Given the description of an element on the screen output the (x, y) to click on. 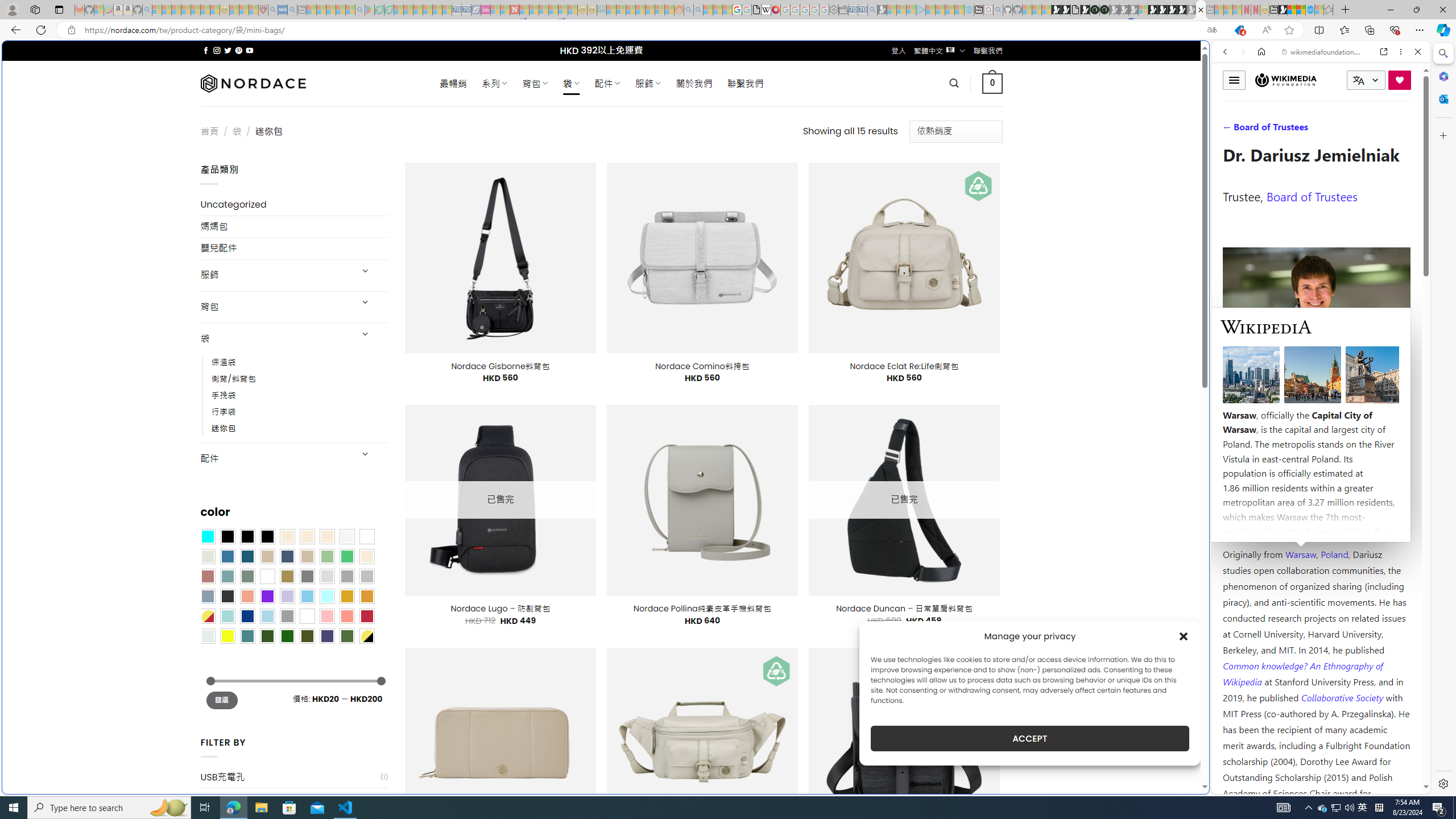
Actions for this site (1370, 583)
Robert H. Shmerling, MD - Harvard Health - Sleeping (263, 9)
Class: i icon icon-translate language-switcher__icon (1358, 80)
Search Filter, WEB (1230, 129)
